Given the description of an element on the screen output the (x, y) to click on. 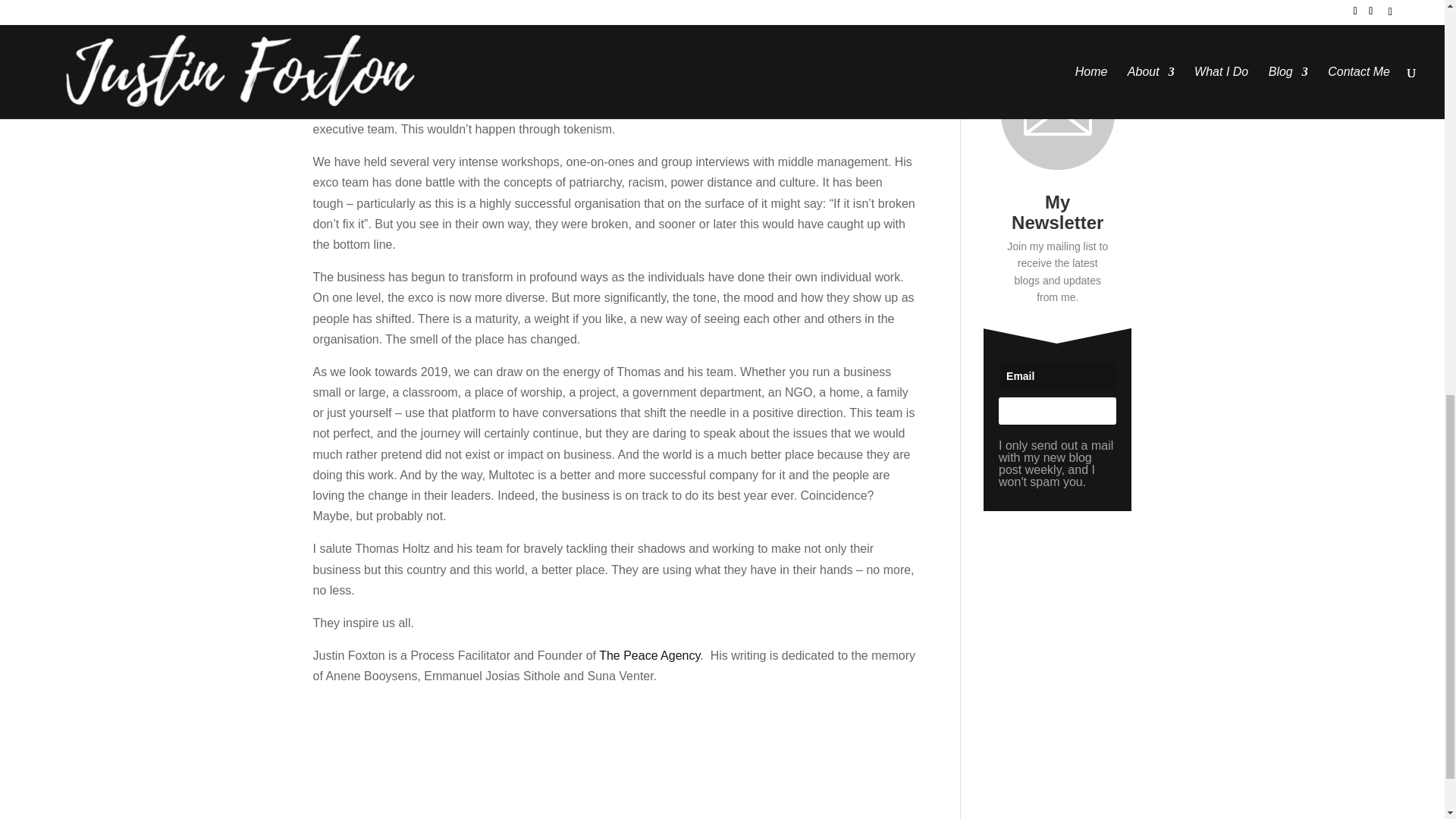
The Peace Agency (649, 655)
